Given the description of an element on the screen output the (x, y) to click on. 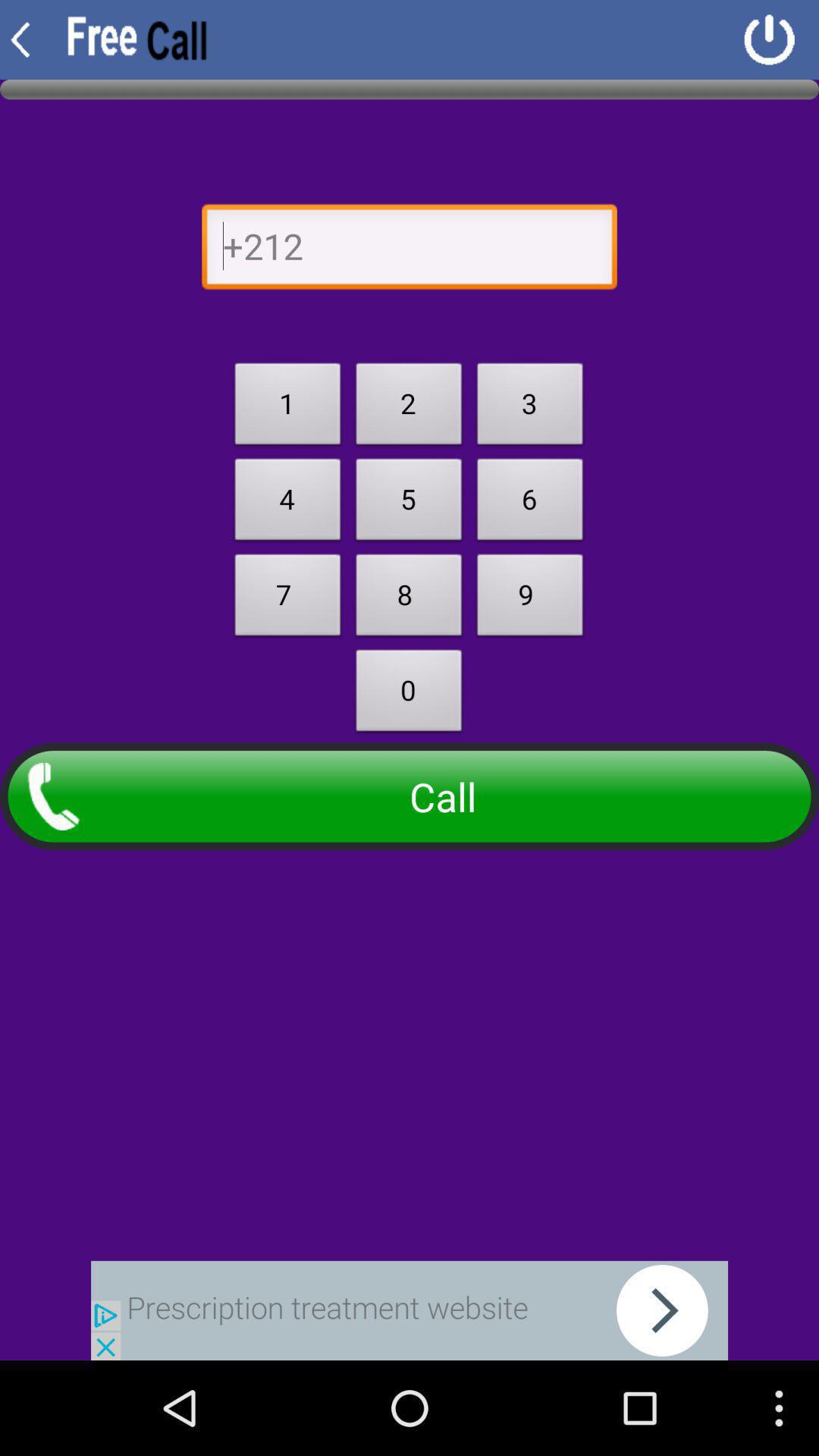
back (409, 1310)
